Given the description of an element on the screen output the (x, y) to click on. 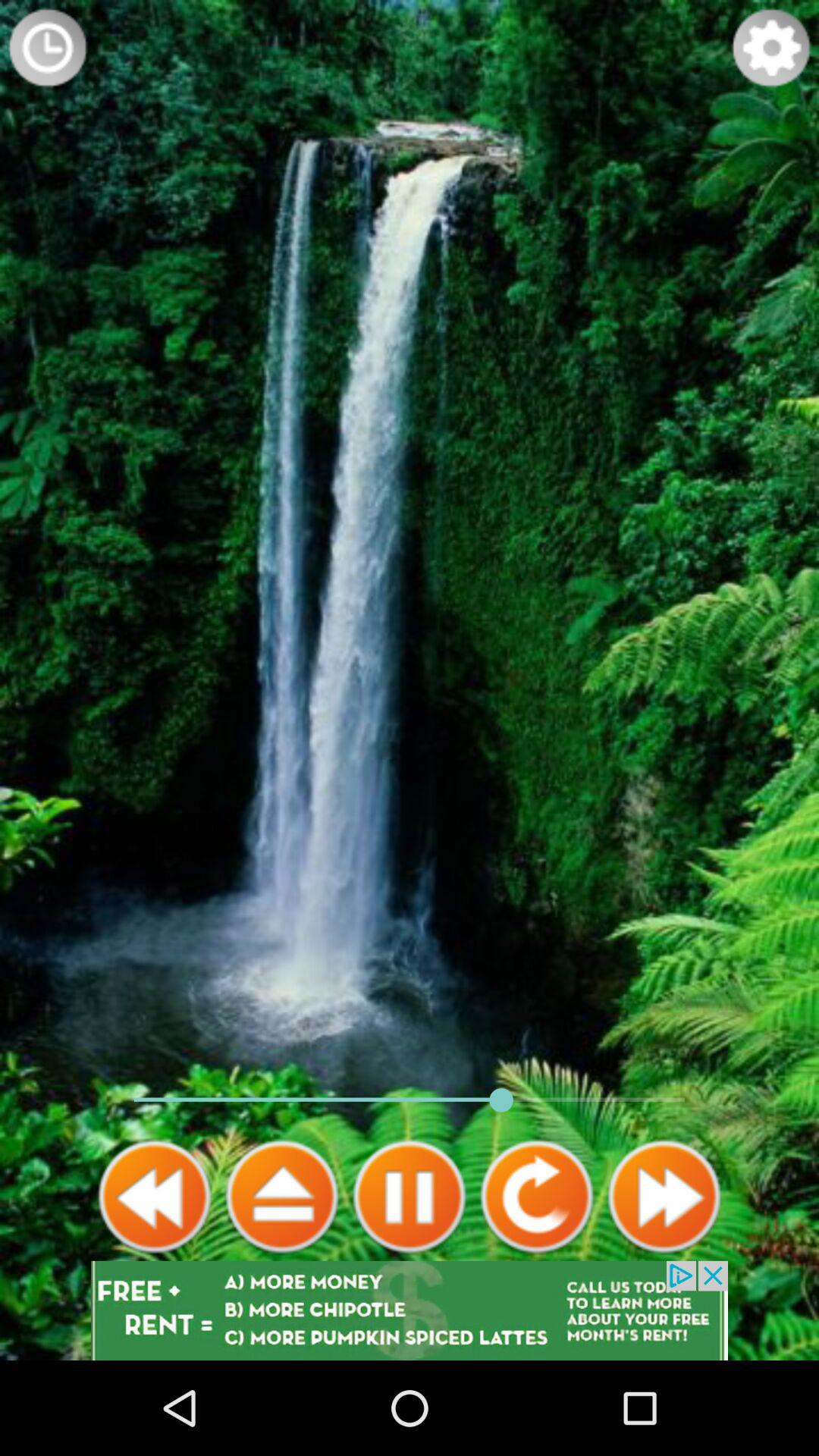
select reload (536, 1196)
